Given the description of an element on the screen output the (x, y) to click on. 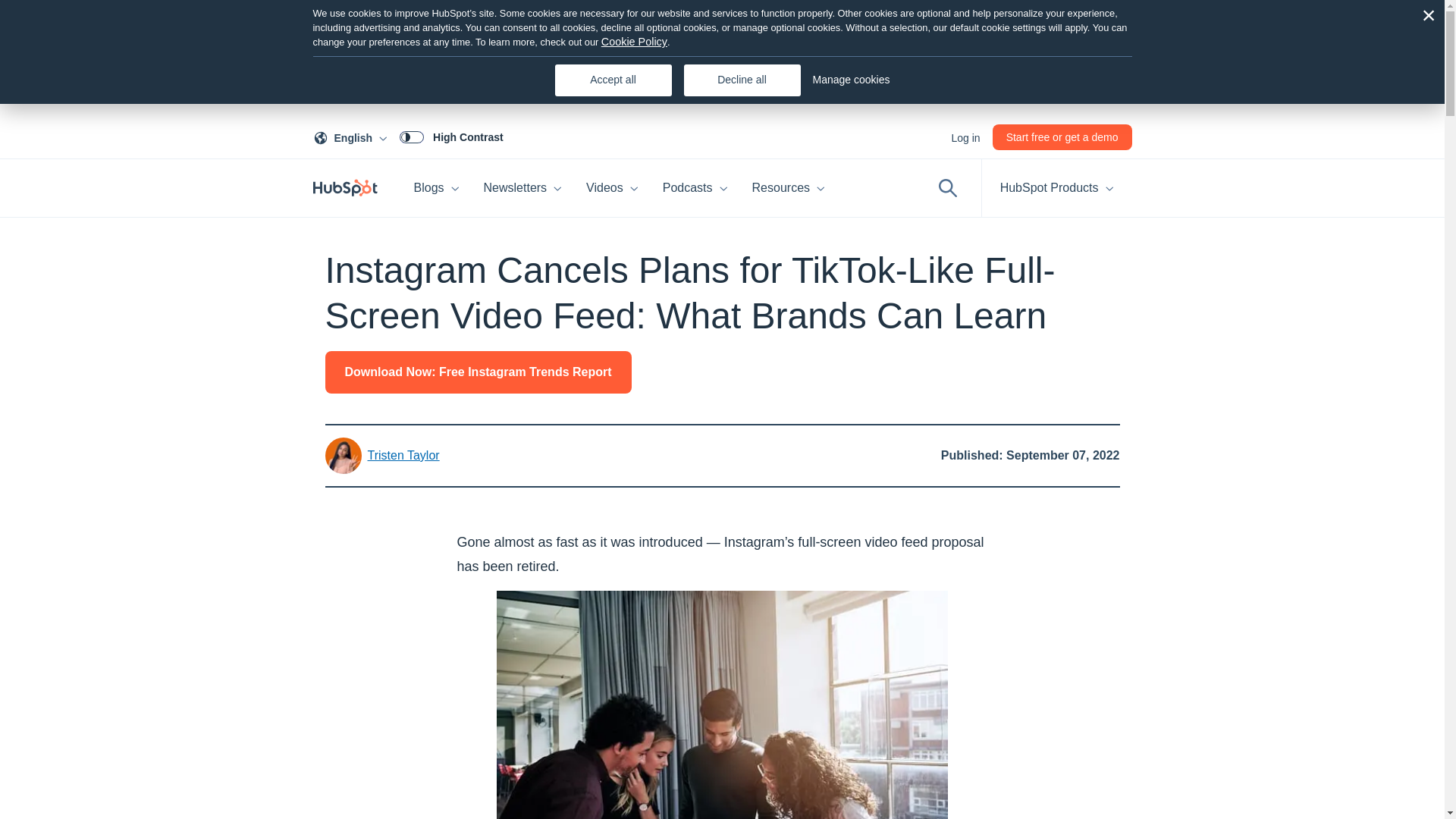
Newsletters (353, 136)
Start free or get a demo (523, 187)
Log in (1062, 136)
Blogs (964, 137)
High Contrast (436, 187)
